Given the description of an element on the screen output the (x, y) to click on. 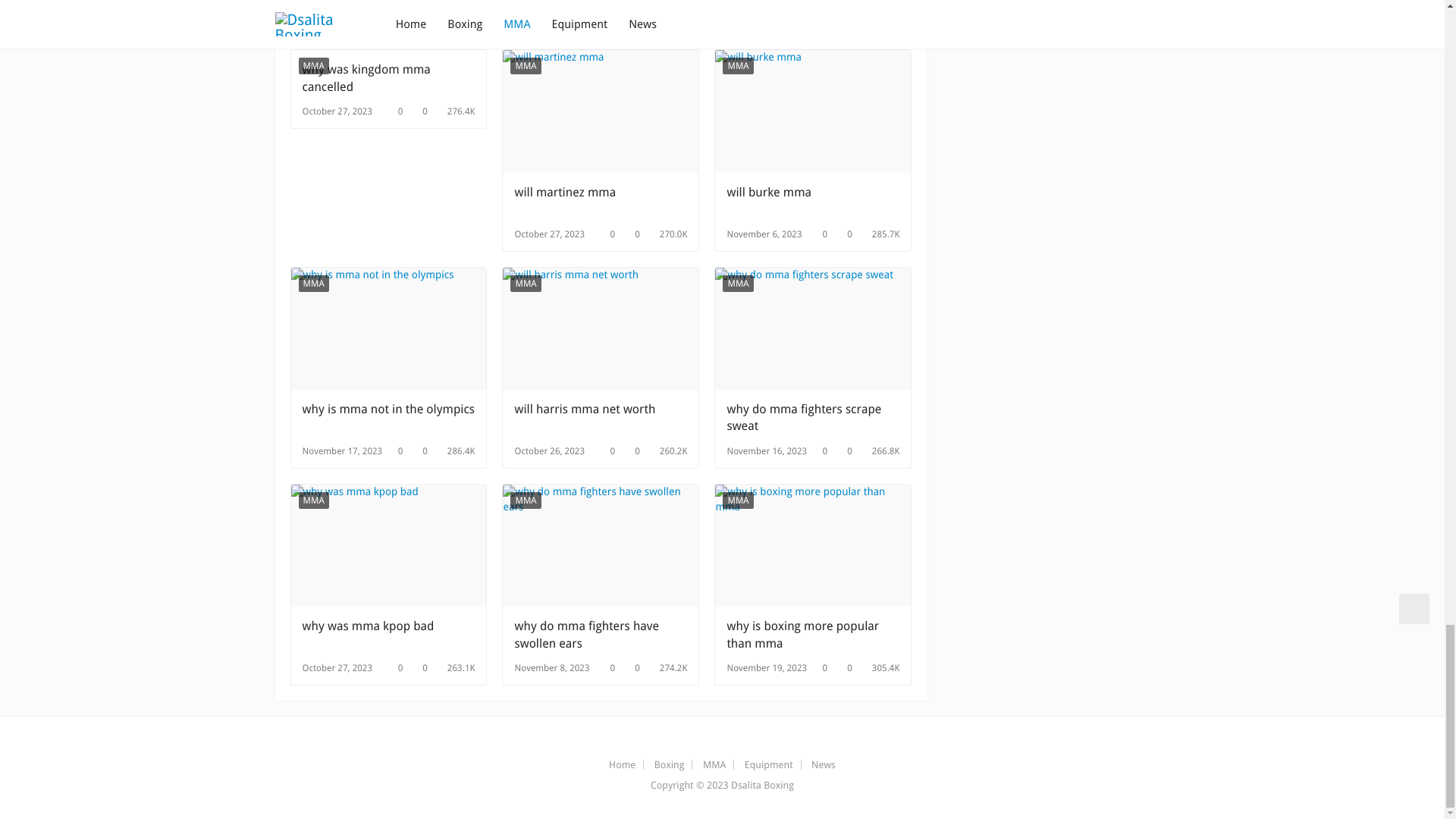
will burke mma (812, 200)
will martinez mma (600, 110)
why is mma not in the olympics (388, 328)
MMA (313, 283)
MMA (525, 65)
will martinez mma (600, 200)
MMA (737, 65)
why was kingdom mma cancelled (387, 78)
why was kingdom mma cancelled (387, 78)
MMA (313, 65)
will harris mma net worth (600, 328)
will burke mma (812, 200)
will martinez mma (600, 200)
why is mma not in the olympics (387, 417)
will burke mma (812, 110)
